Given the description of an element on the screen output the (x, y) to click on. 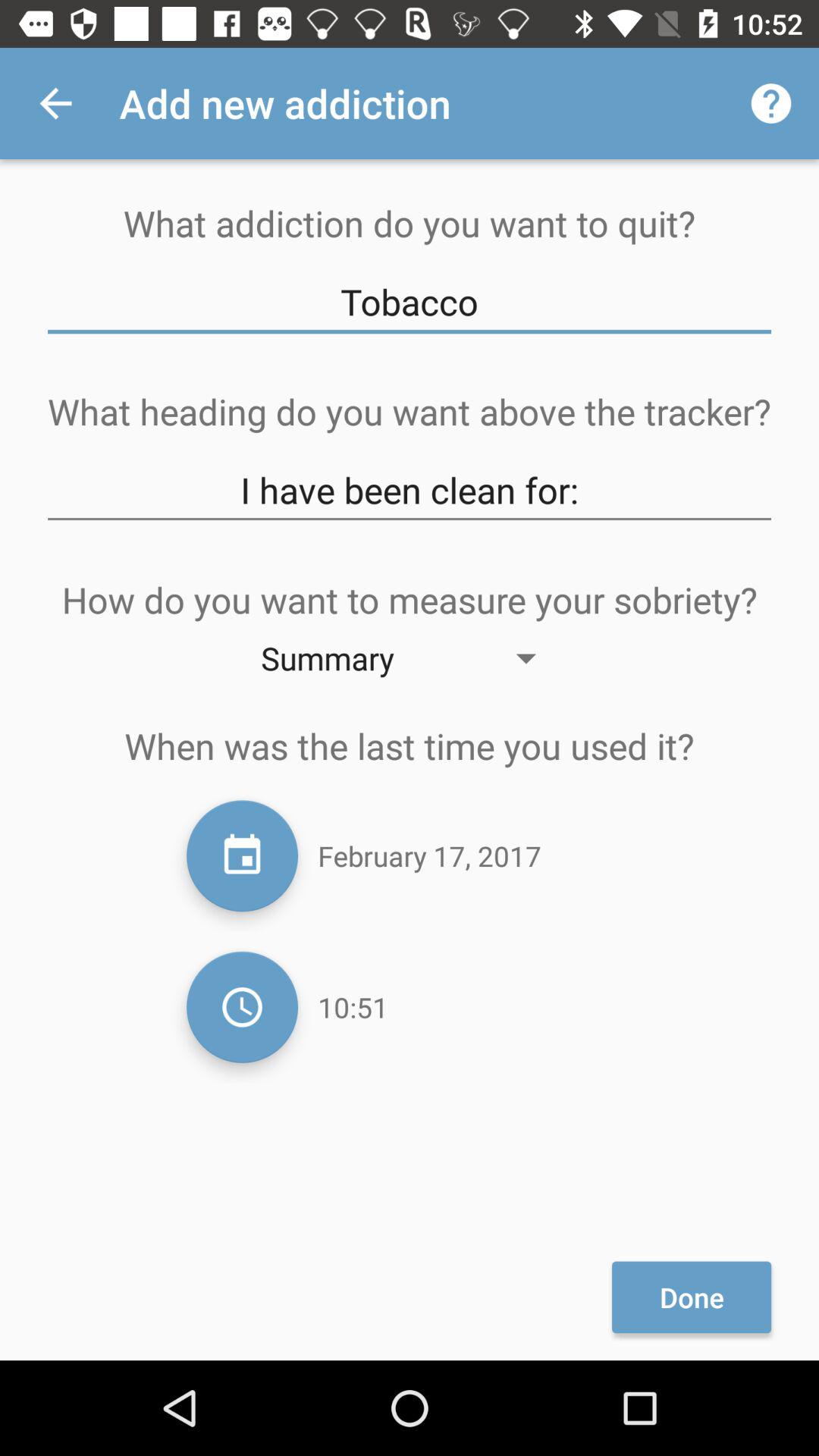
change time of day (242, 1006)
